Given the description of an element on the screen output the (x, y) to click on. 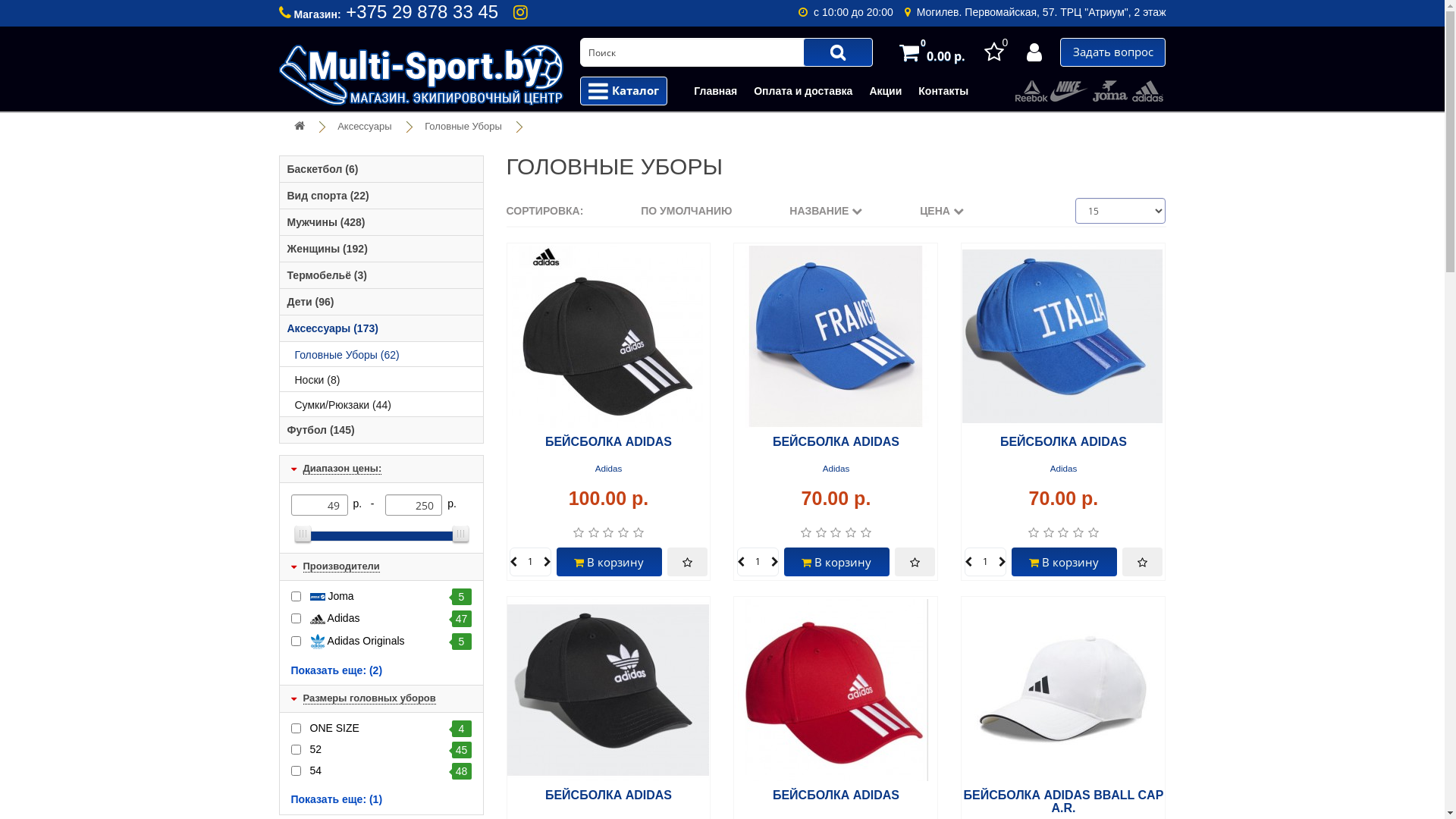
0 Element type: text (995, 51)
